Given the description of an element on the screen output the (x, y) to click on. 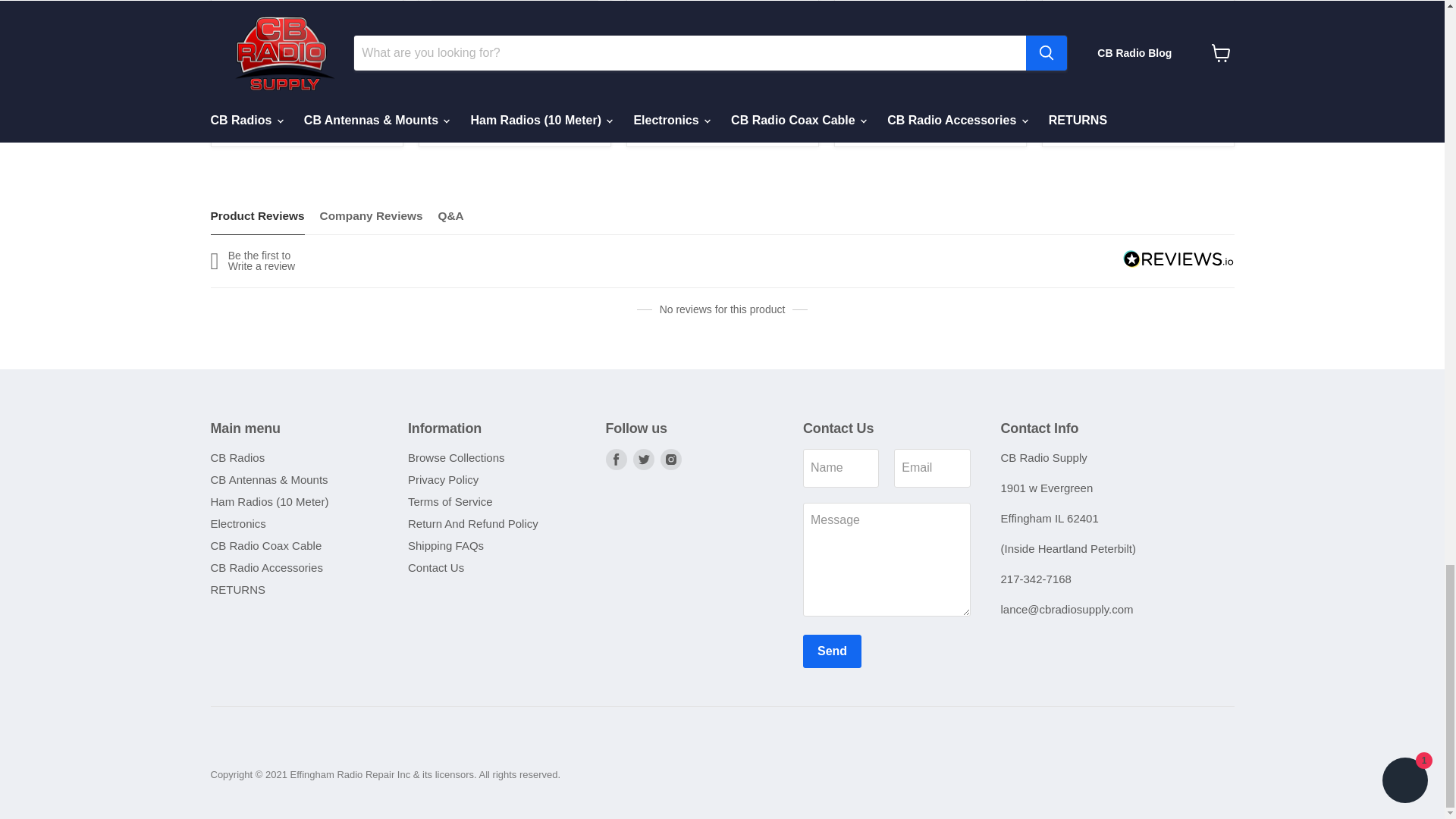
Facebook (615, 459)
tel:217-342-7168 (1036, 578)
Instagram (670, 459)
Hustler (445, 112)
Twitter (642, 459)
